Given the description of an element on the screen output the (x, y) to click on. 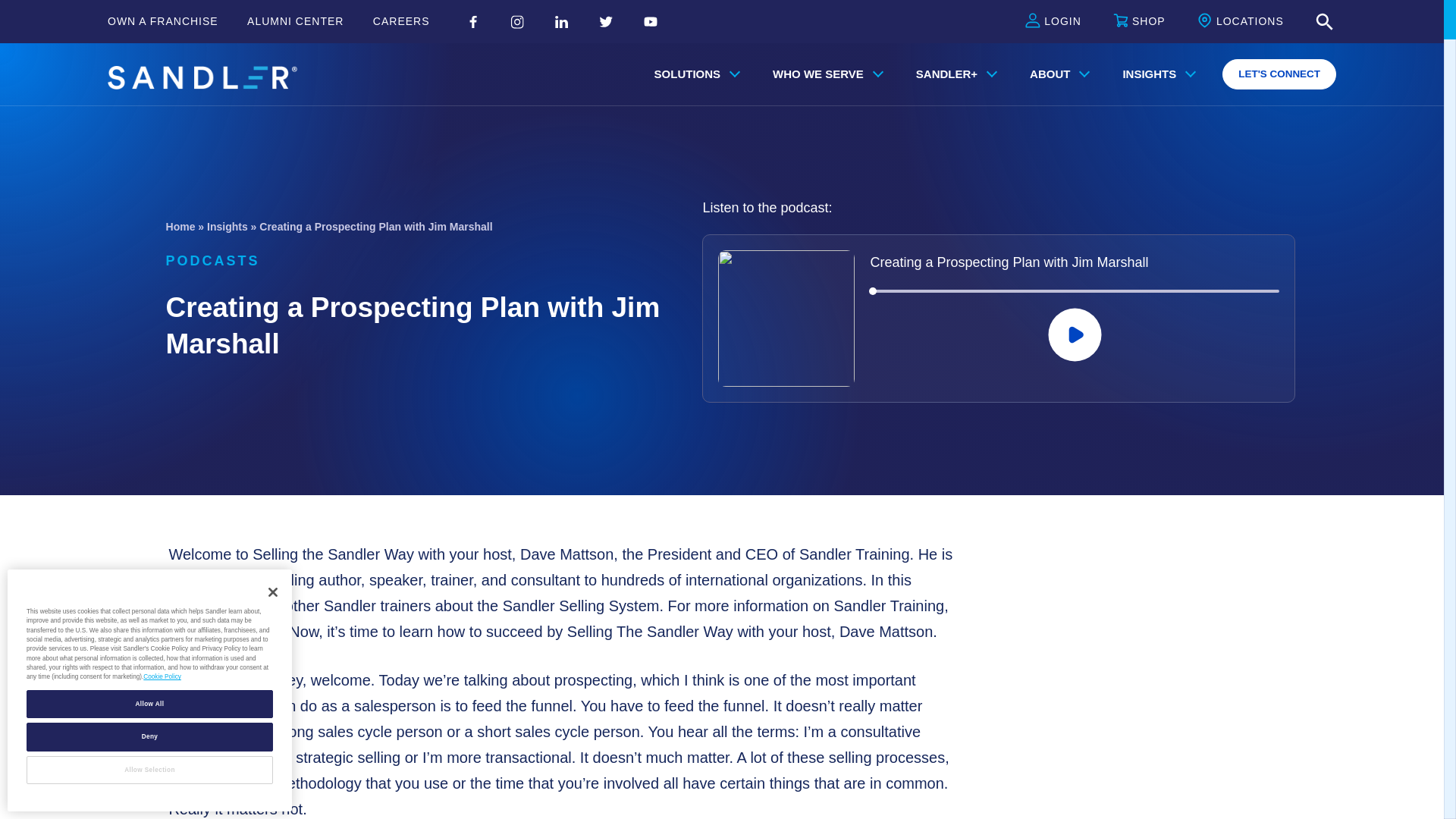
CAREERS (400, 21)
LOCATIONS (1240, 22)
OWN A FRANCHISE (162, 21)
Open Search (1324, 21)
SHOP (1139, 22)
WHO WE SERVE (824, 73)
SOLUTIONS (694, 73)
LOGIN (1053, 22)
ALUMNI CENTER (295, 21)
